Given the description of an element on the screen output the (x, y) to click on. 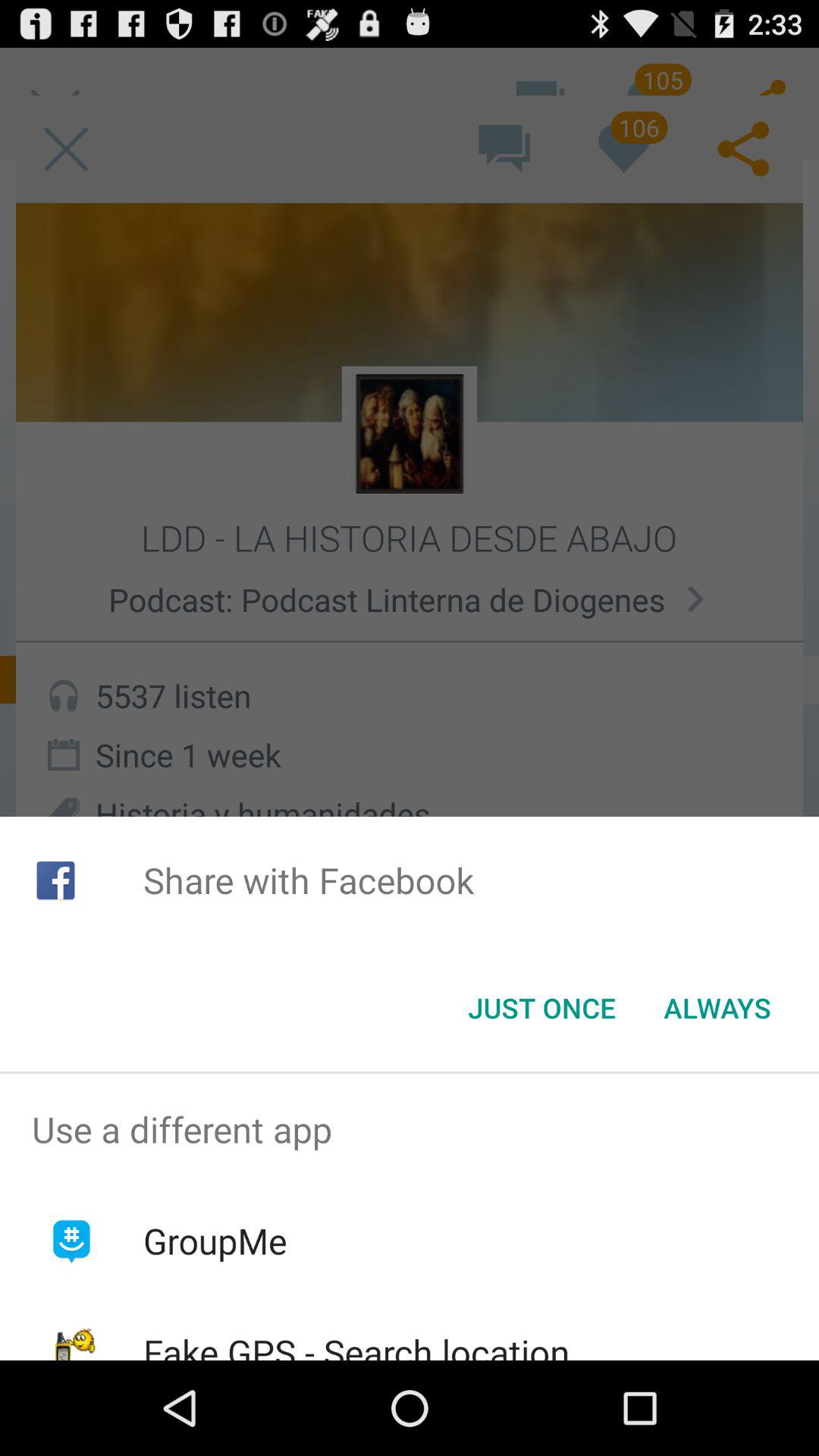
launch icon above the groupme icon (409, 1129)
